Given the description of an element on the screen output the (x, y) to click on. 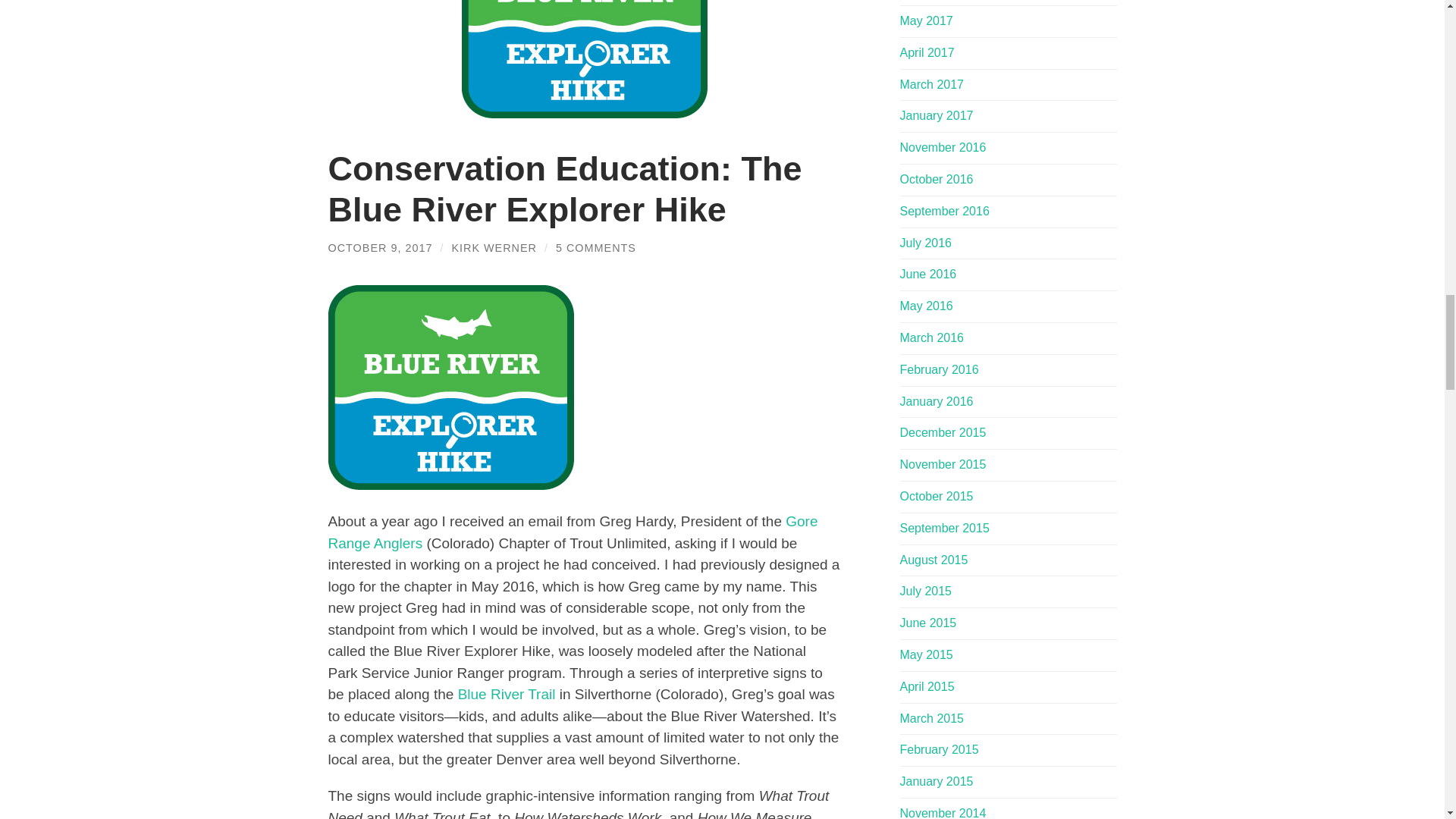
KIRK WERNER (494, 247)
Posts by Kirk Werner (494, 247)
5 COMMENTS (596, 247)
Conservation Education: The Blue River Explorer Hike (564, 189)
OCTOBER 9, 2017 (379, 247)
Gore Range Anglers (571, 532)
Blue River Trail (507, 693)
